Given the description of an element on the screen output the (x, y) to click on. 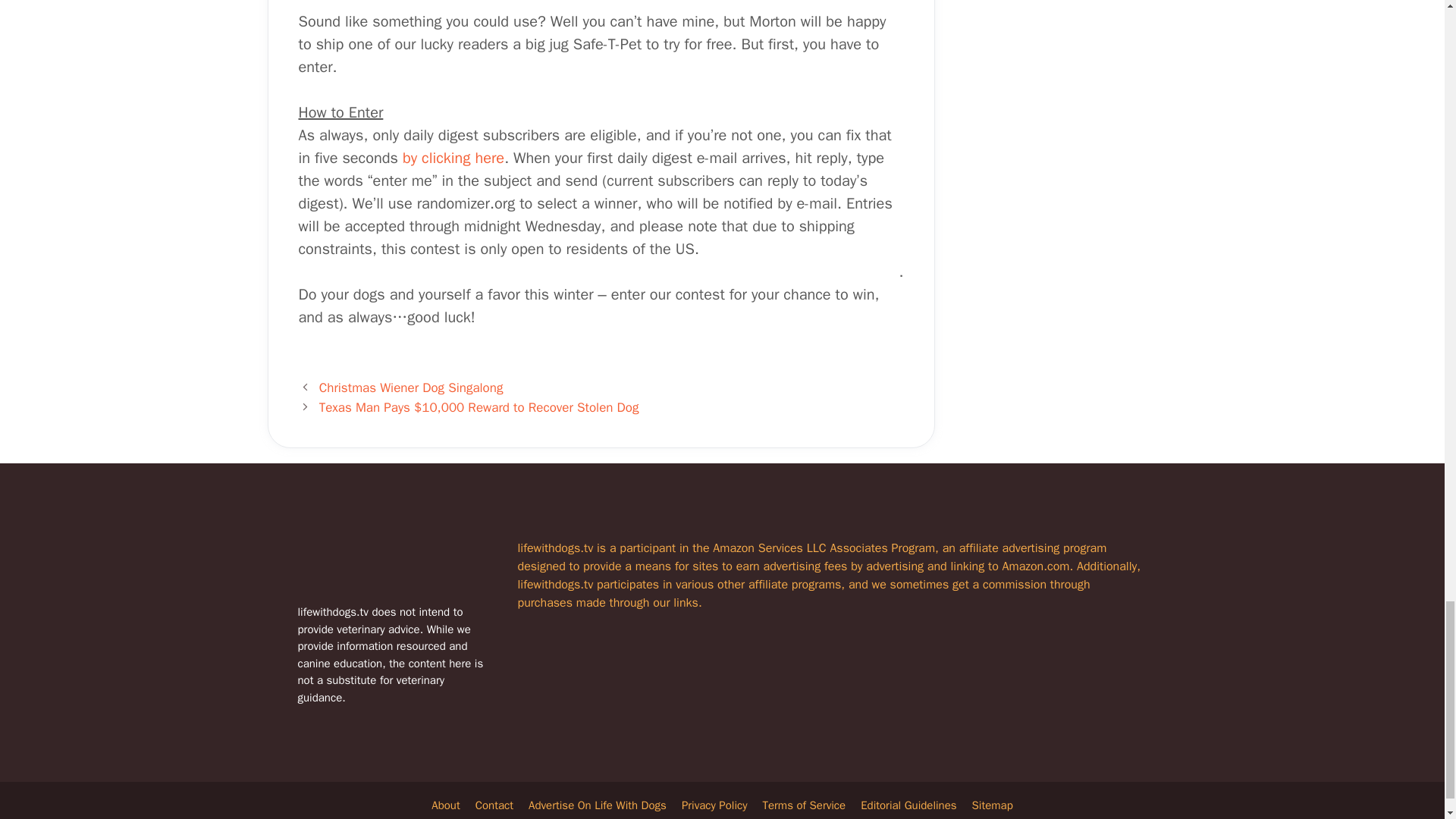
About (445, 805)
Christmas Wiener Dog Singalong (410, 387)
Contact (494, 805)
by clicking here (453, 157)
Privacy Policy (714, 805)
Terms of Service (803, 805)
Editorial Guidelines (908, 805)
Advertise On Life With Dogs (597, 805)
Sitemap (992, 805)
